Given the description of an element on the screen output the (x, y) to click on. 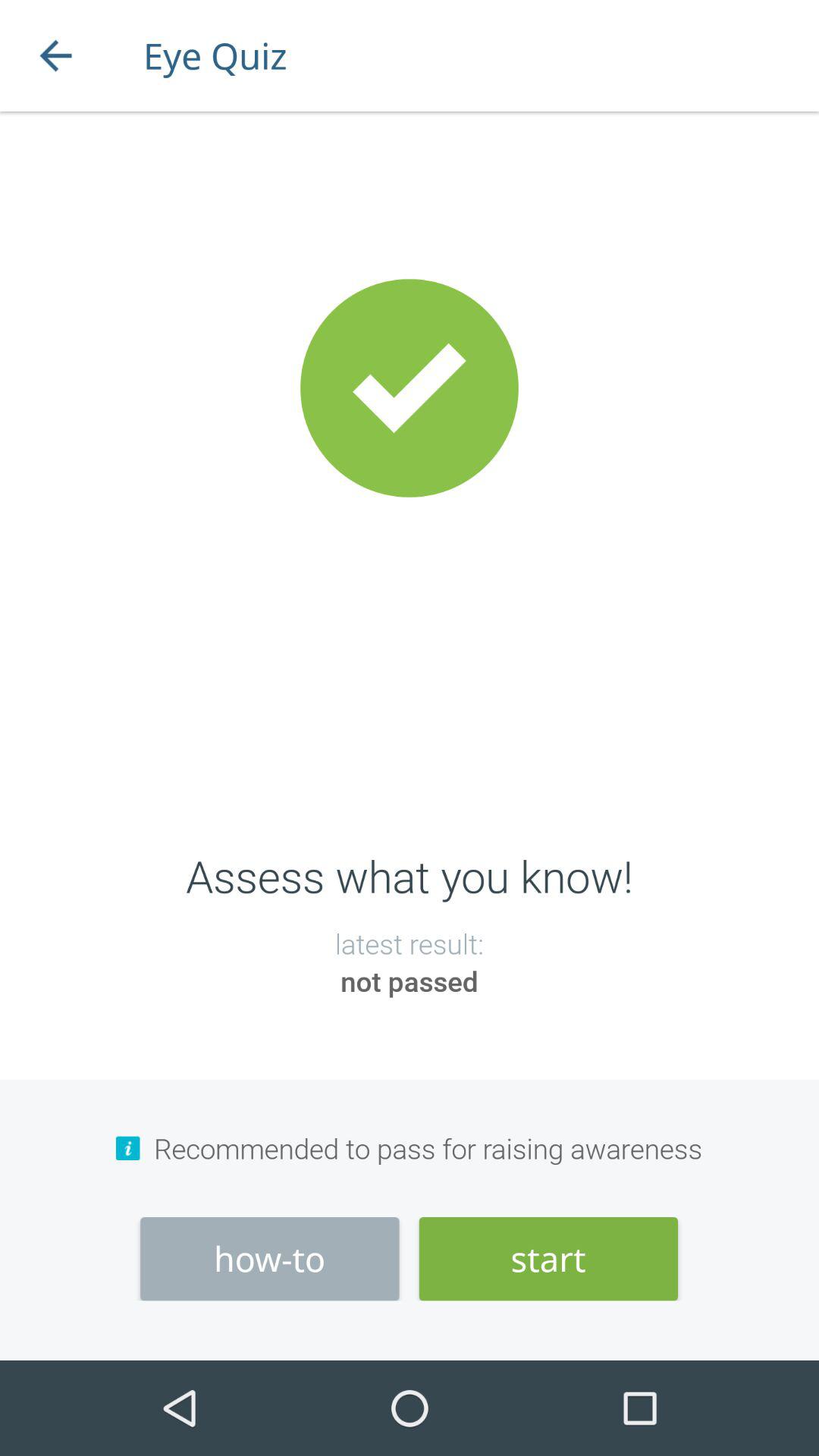
swipe until the how-to (269, 1258)
